Given the description of an element on the screen output the (x, y) to click on. 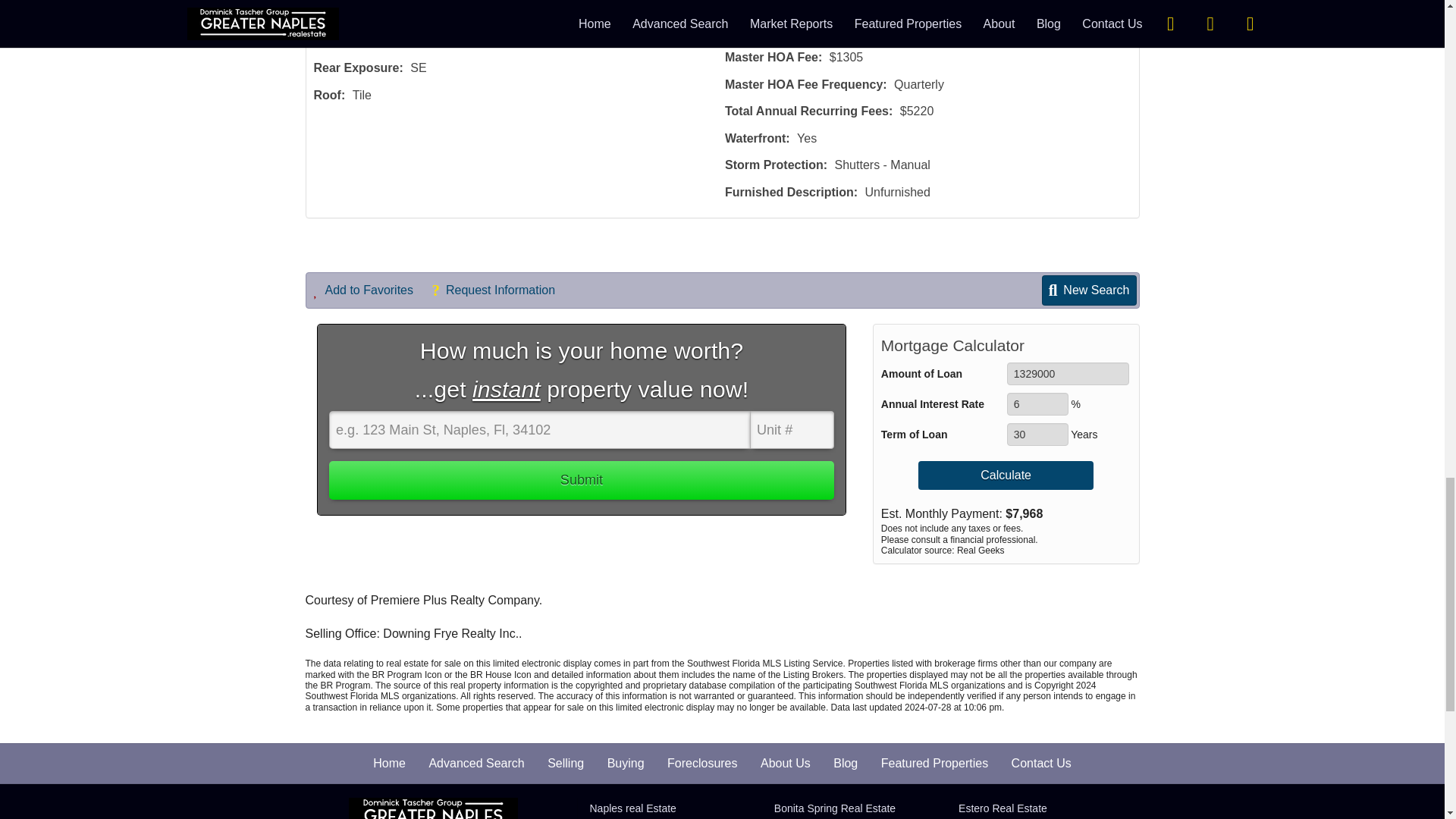
1329000 (1068, 373)
6 (1037, 404)
30 (1037, 434)
Home Page (433, 808)
